Given the description of an element on the screen output the (x, y) to click on. 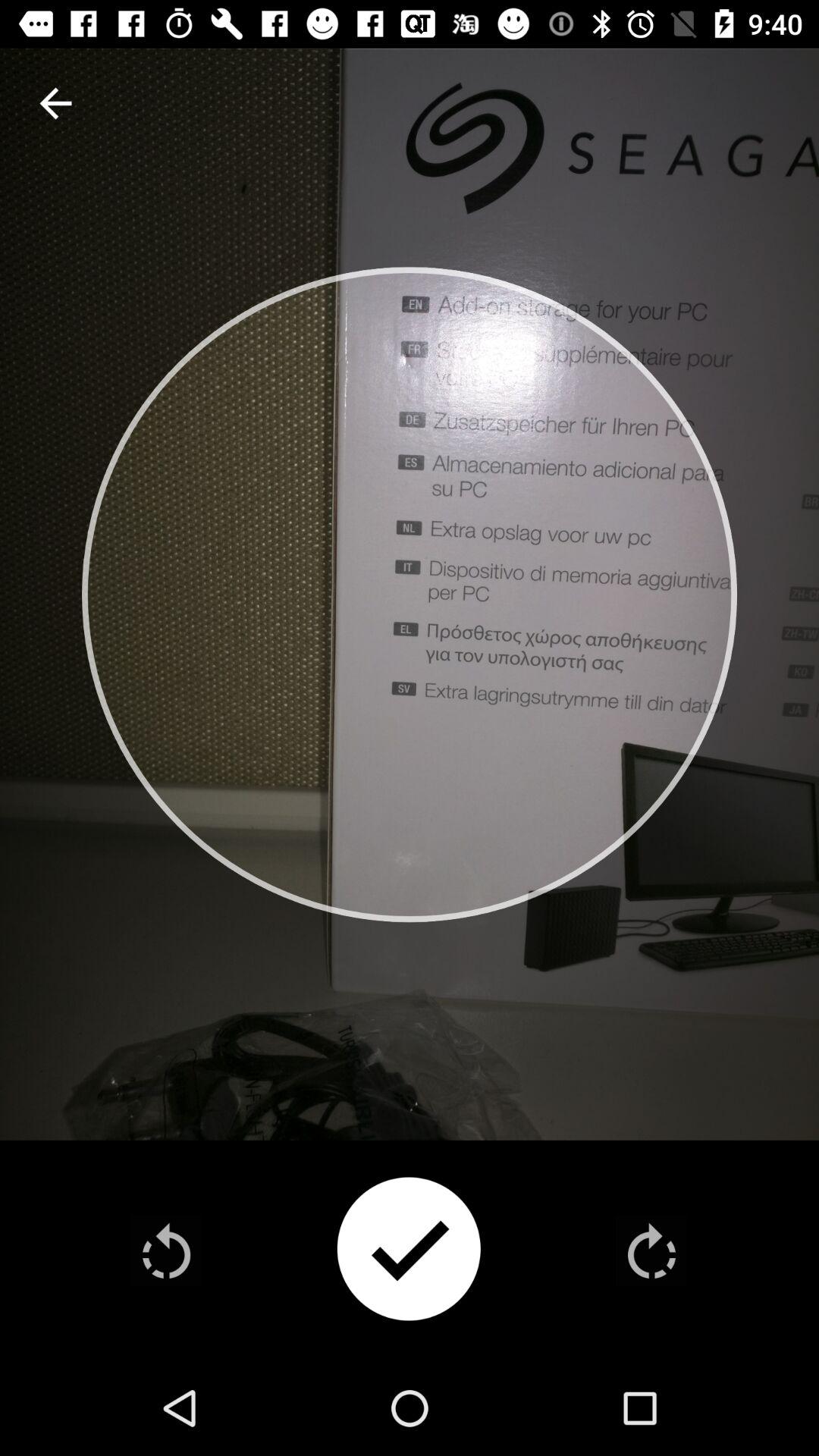
rotate picture clockwise (651, 1250)
